Given the description of an element on the screen output the (x, y) to click on. 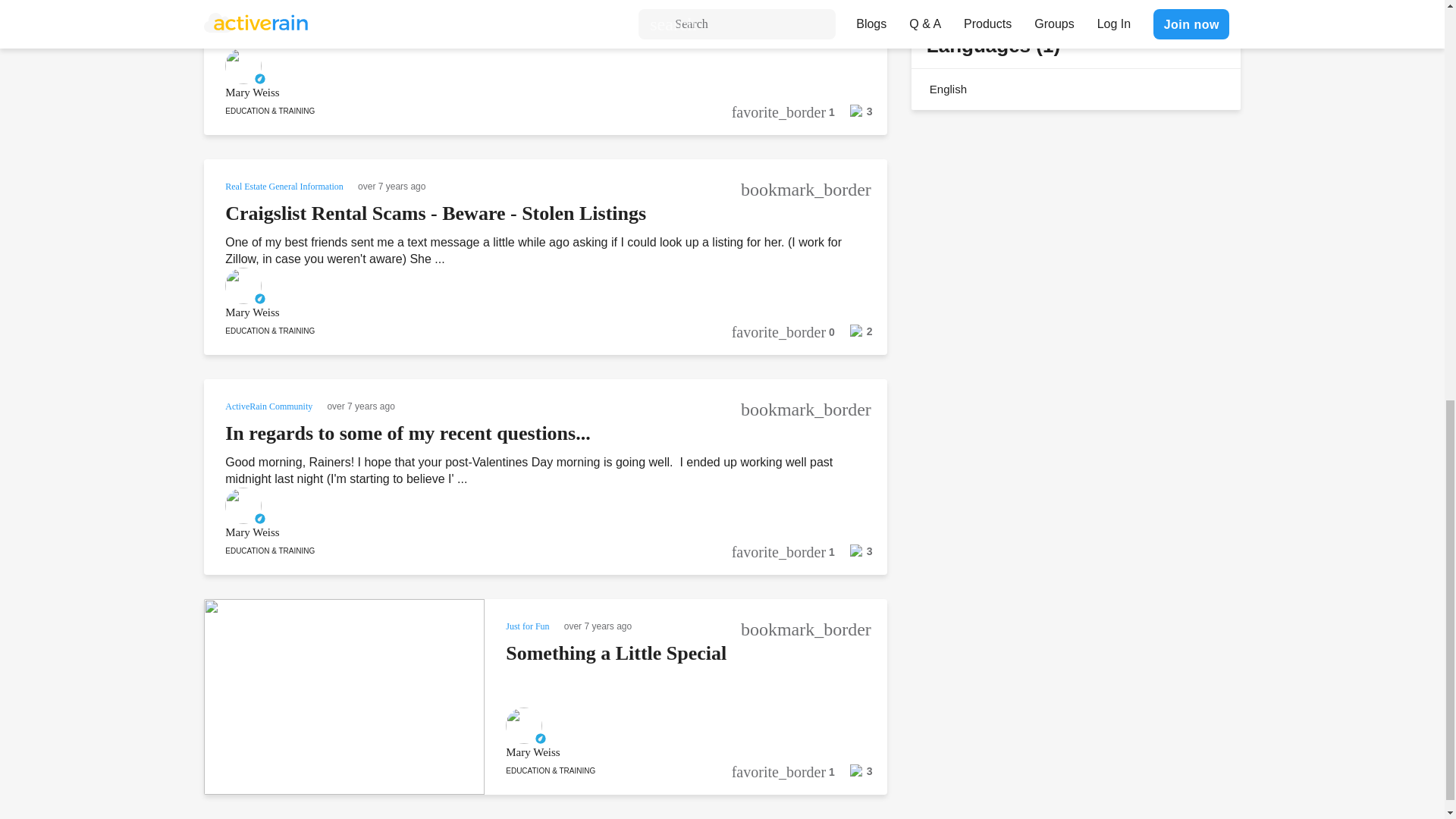
ActiveRain Community (270, 404)
In regards to some of my recent questions... (407, 433)
Craigslist Rental Scams - Beware - Stolen Listings (435, 213)
Mary Weiss (525, 92)
Mary Weiss (525, 312)
Real Estate General Information (285, 185)
3 (853, 115)
2 (853, 336)
Are Your Facebook Activities Putting You at Risk? (437, 2)
